Given the description of an element on the screen output the (x, y) to click on. 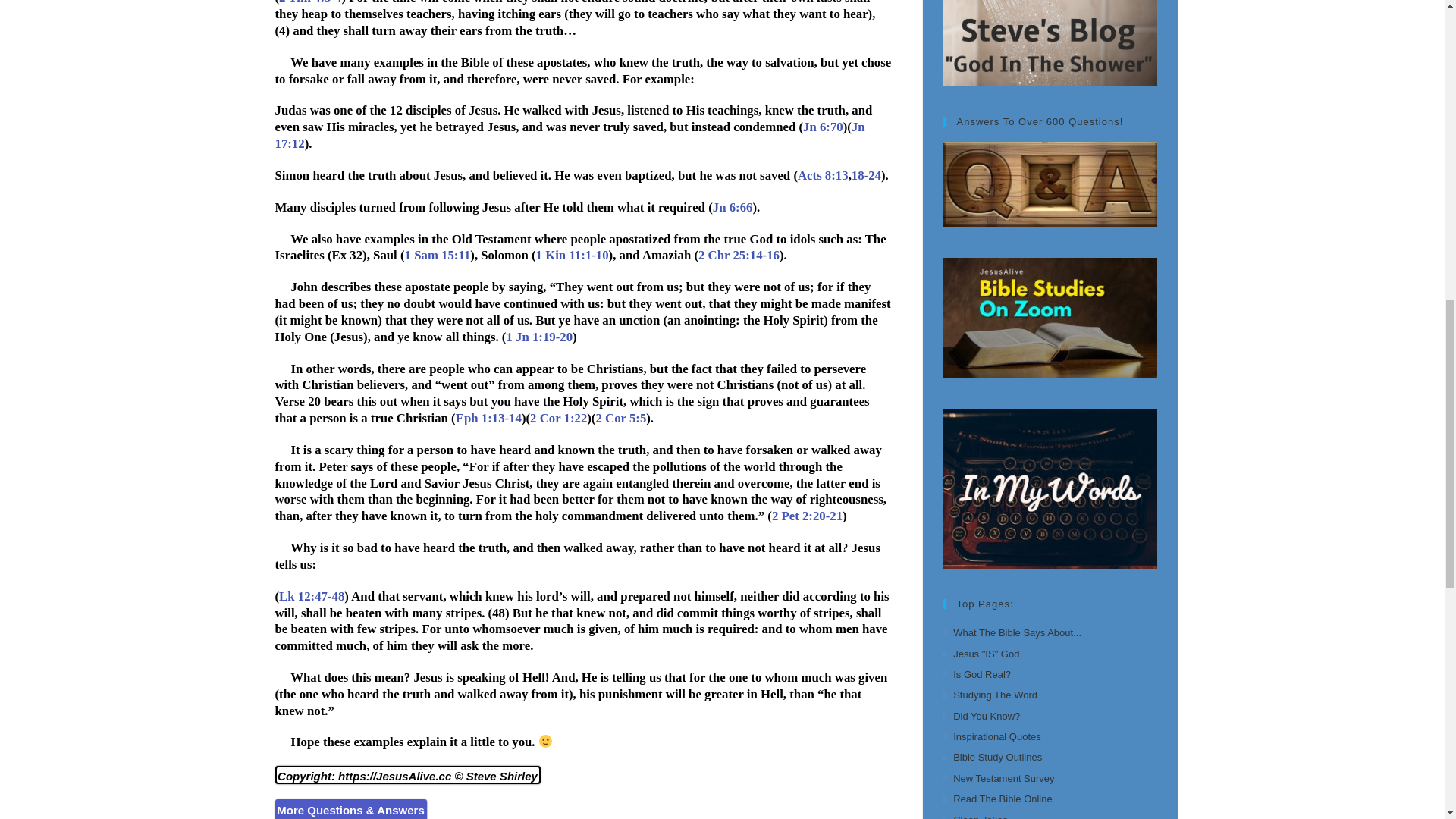
Lk 12:47-48 (311, 595)
2 Pet 2:20-21 (807, 515)
2 Tim 4:3-4 (309, 2)
2 Chr 25:14-16 (738, 255)
2 Cor 5:5 (620, 418)
1 Sam 15:11 (437, 255)
Acts 8:13 (822, 175)
18-24 (865, 175)
1 Jn 1:19-20 (538, 336)
Jn 6:66 (732, 206)
Jn 17:12 (569, 134)
Eph 1:13-14 (488, 418)
2 Cor 1:22 (557, 418)
1 Kin 11:1-10 (571, 255)
Jn 6:70 (823, 126)
